Given the description of an element on the screen output the (x, y) to click on. 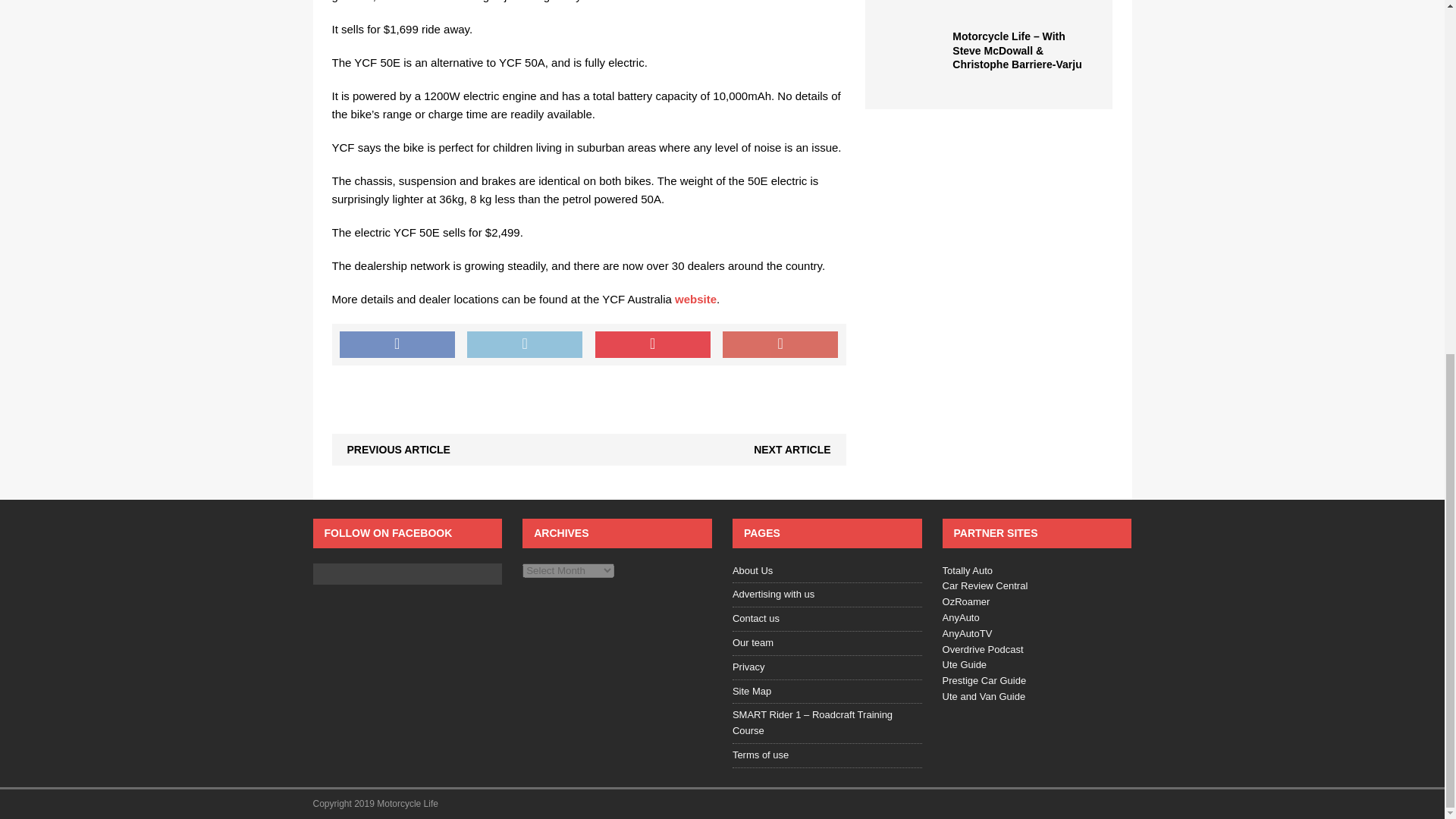
About Us (826, 573)
Pin This Post (652, 344)
NEXT ARTICLE (791, 449)
Tweet This Post (524, 344)
Share on Facebook (396, 344)
website (695, 298)
PREVIOUS ARTICLE (398, 449)
Advertising with us (826, 595)
